Given the description of an element on the screen output the (x, y) to click on. 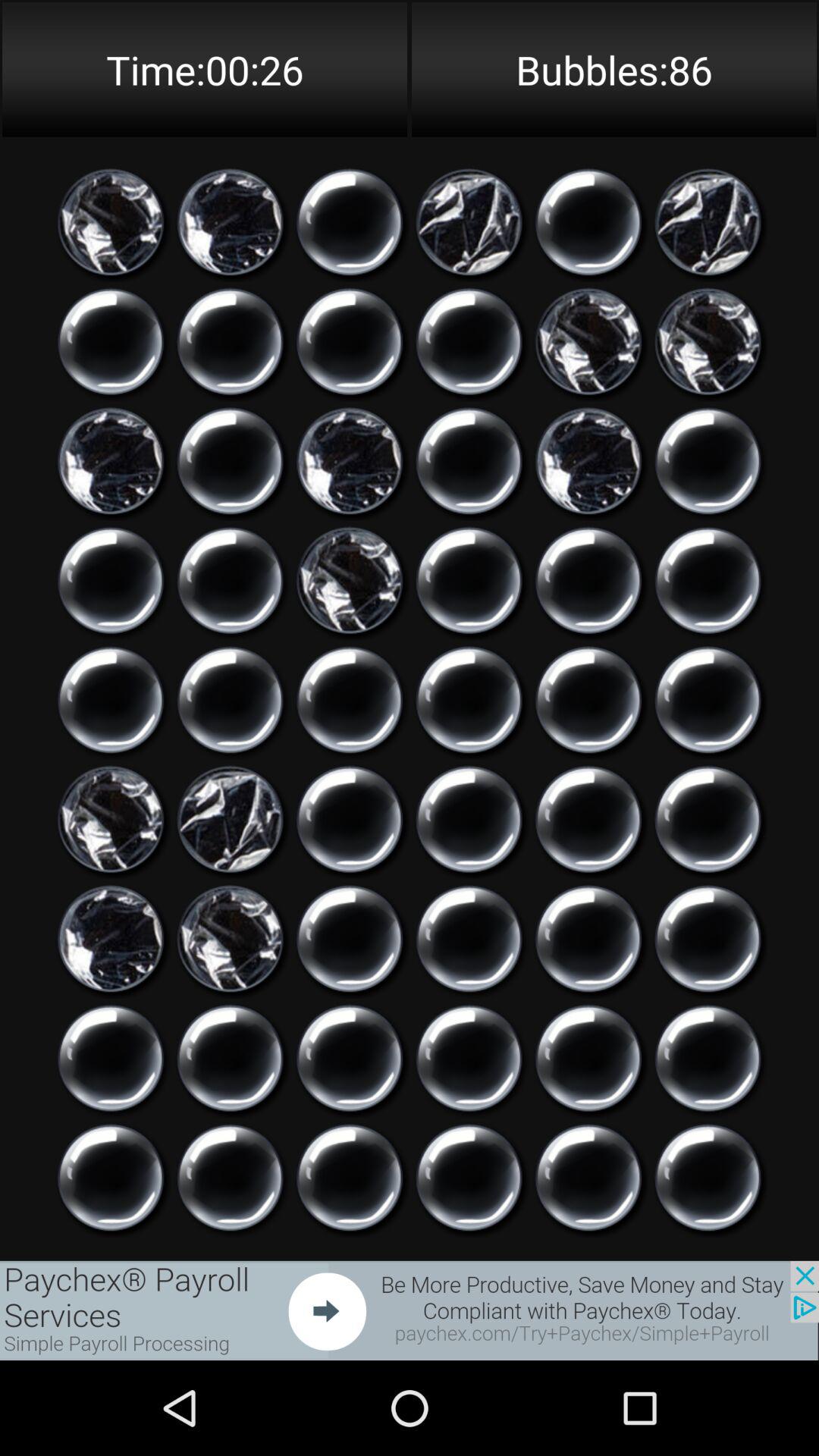
pop the bubble (230, 938)
